Given the description of an element on the screen output the (x, y) to click on. 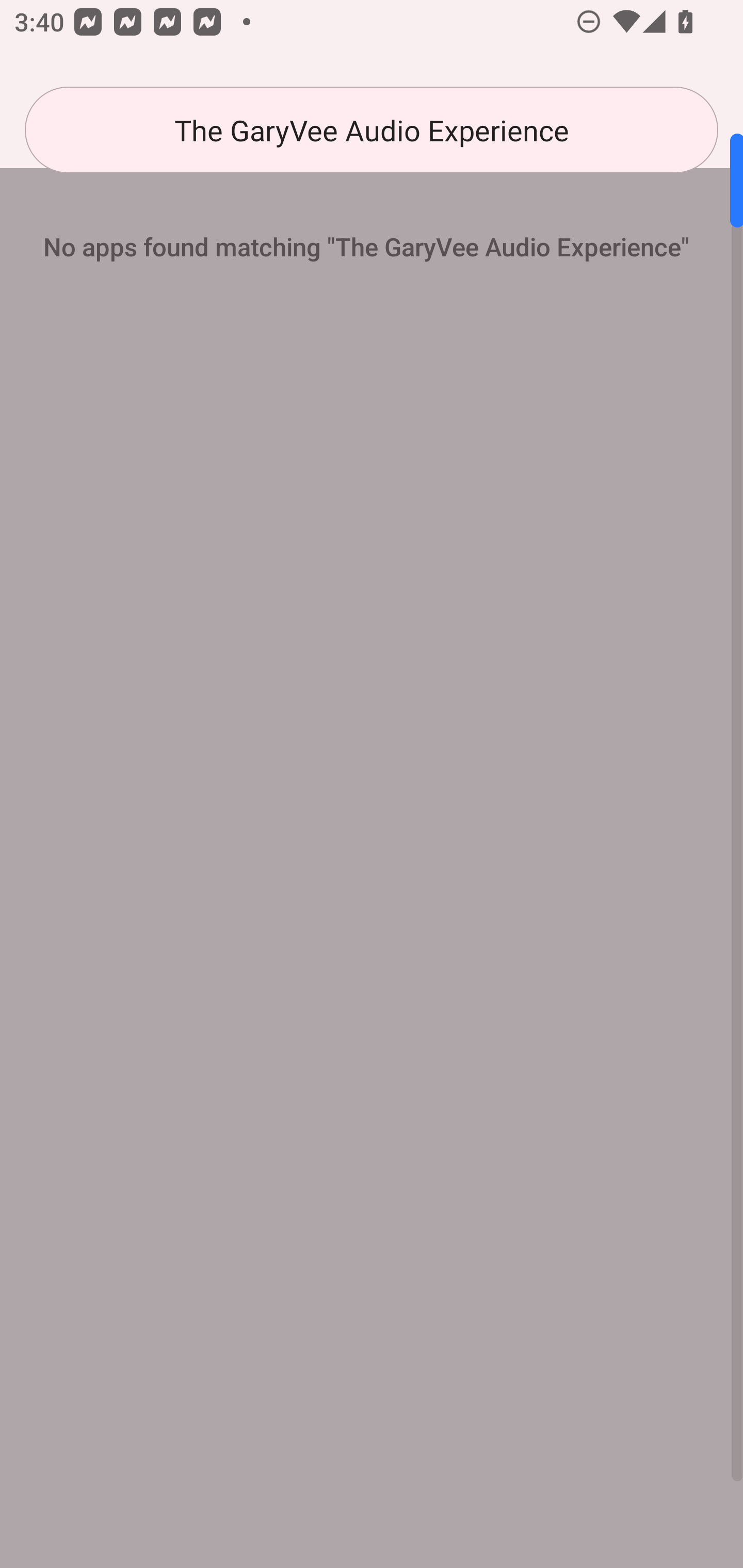
The GaryVee Audio Experience (371, 130)
